Given the description of an element on the screen output the (x, y) to click on. 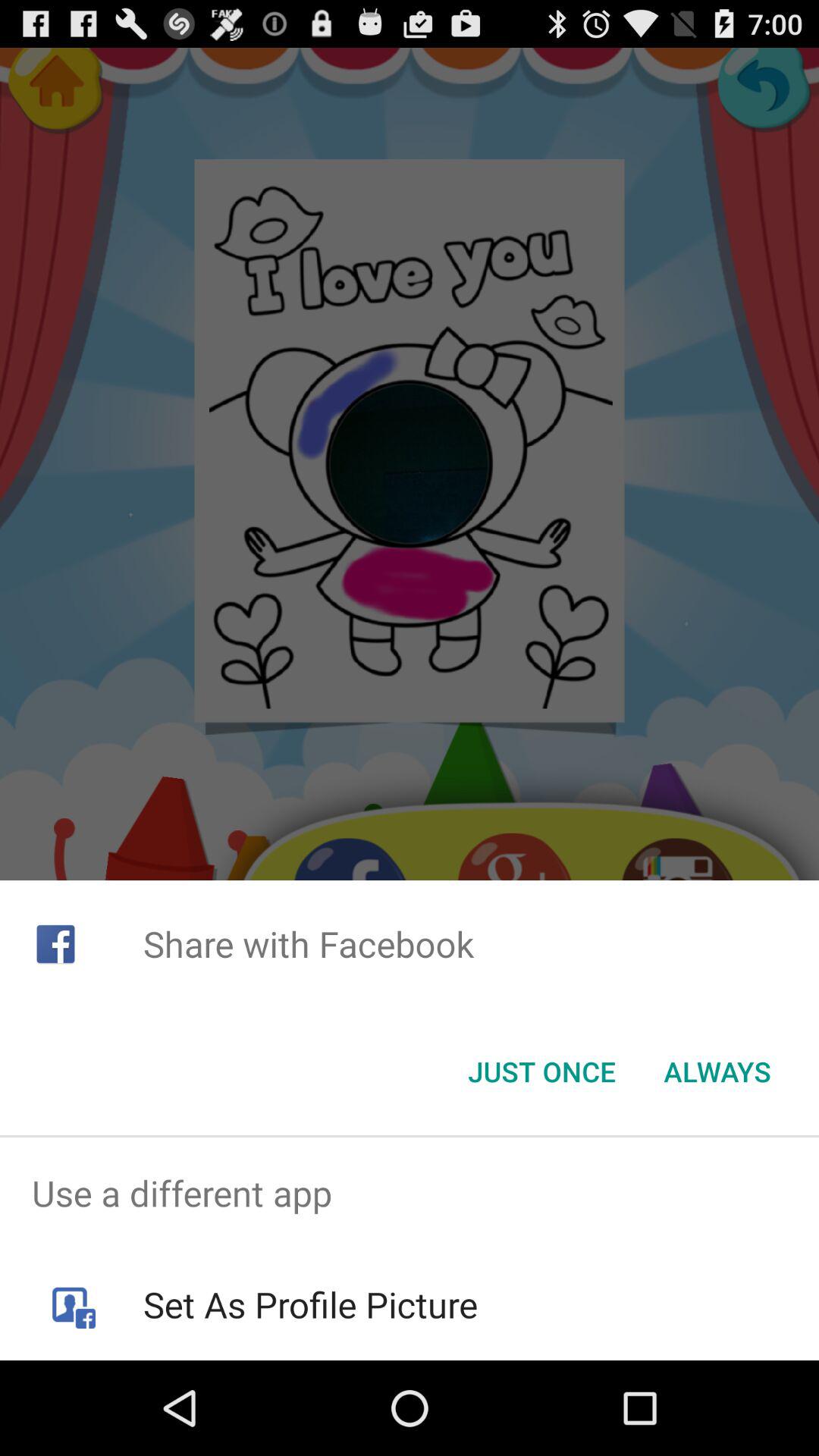
turn on the button to the left of the always button (541, 1071)
